Given the description of an element on the screen output the (x, y) to click on. 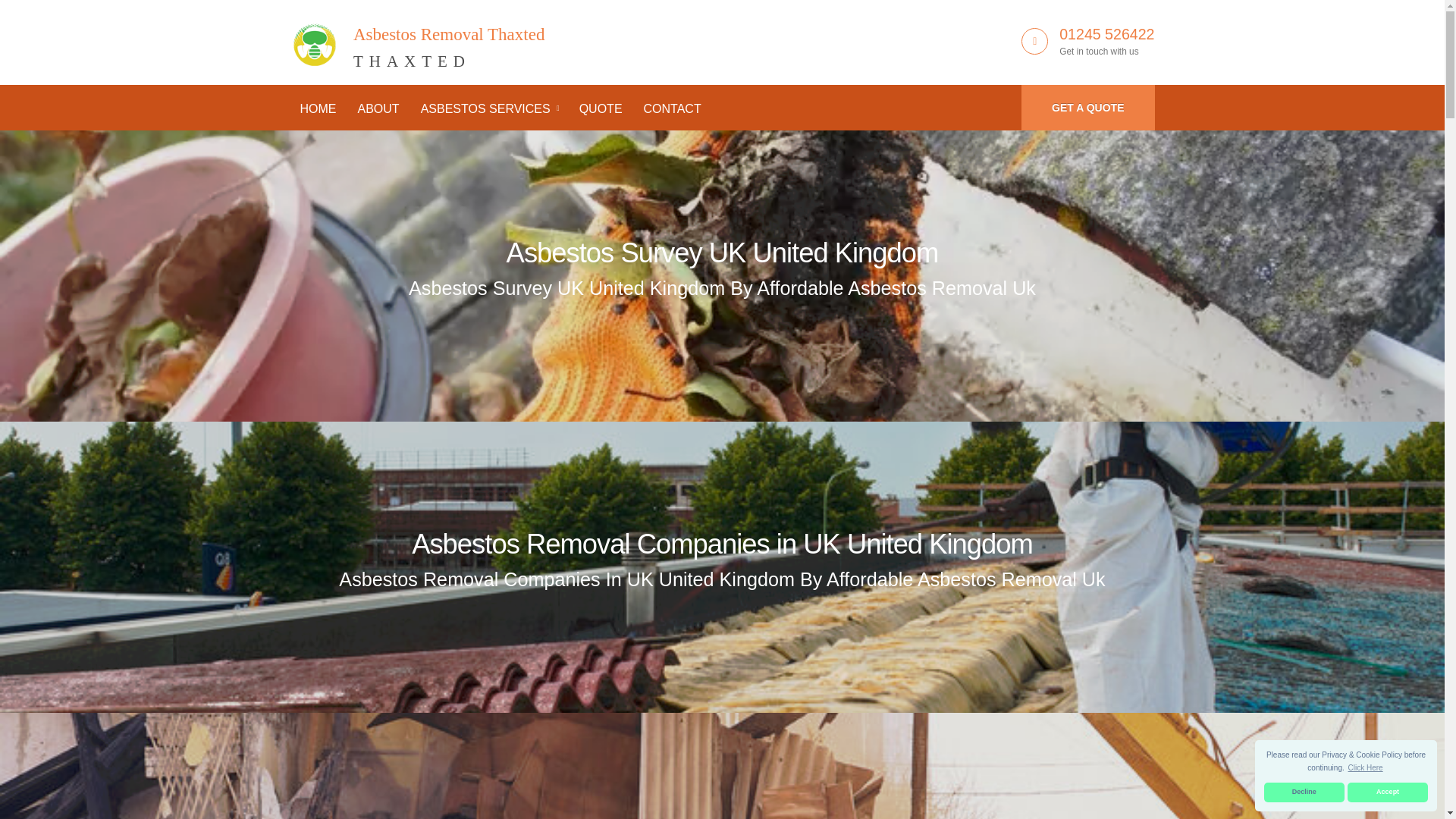
ASBESTOS SERVICES (488, 109)
Click Here (1365, 767)
HOME (317, 109)
GET A QUOTE (1088, 107)
CONTACT (672, 109)
QUOTE (600, 109)
Decline (416, 38)
Accept (1303, 792)
Asbestos Removal Companies in UK United Kingdom (1388, 792)
01245 526422 (722, 543)
Asbestos Survey UK United Kingdom (1106, 33)
ABOUT (722, 252)
